Given the description of an element on the screen output the (x, y) to click on. 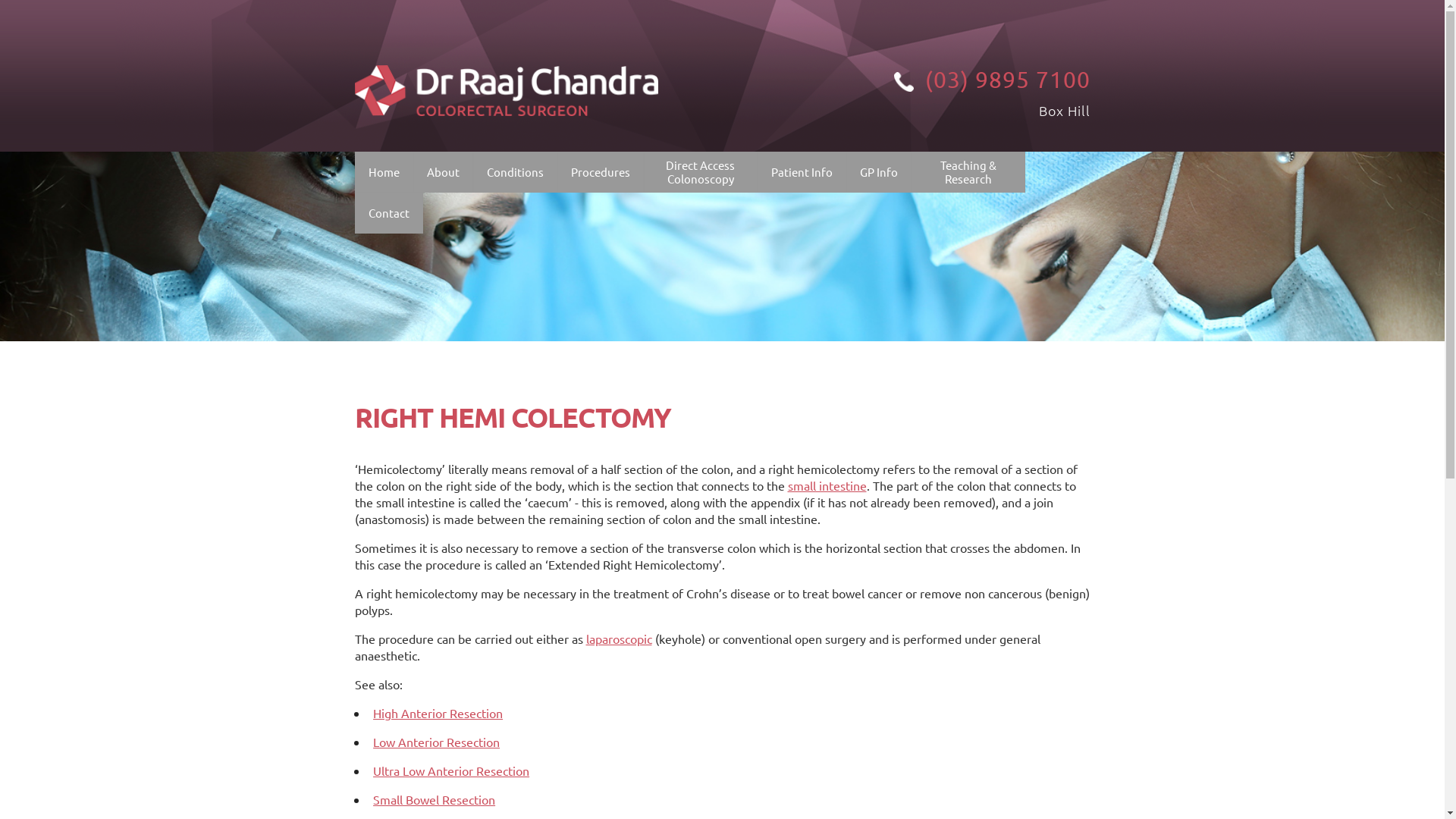
High Anterior Resection Element type: text (437, 712)
Contact Element type: text (387, 212)
Box Hill Element type: text (1064, 110)
Ultra Low Anterior Resection Element type: text (451, 770)
Your first visit Element type: text (862, 210)
(03) 9895 7100 Element type: text (938, 78)
High Anterior Resection Element type: text (662, 281)
laparoscopic Element type: text (618, 638)
Low Anterior Resection Element type: text (436, 741)
Home Element type: text (382, 171)
Appointment Request Element type: text (862, 281)
Gastroscopy Element type: text (662, 495)
Skip to main content Element type: text (55, 0)
small intestine Element type: text (826, 484)
Reconstructive Pouch Surgery Element type: text (662, 246)
Procedures Element type: text (600, 171)
Hernias Element type: text (579, 352)
Bowel cancer Element type: text (579, 210)
Low Anterior Resection Element type: text (662, 317)
Surgical Emergencies Element type: text (579, 388)
New Patient Registration Element type: text (862, 246)
Conditions Element type: text (514, 171)
Small Bowel Resection Element type: text (434, 798)
Diverticular disease Element type: text (579, 317)
Contact Us Element type: text (461, 251)
Patient Referral Element type: text (952, 210)
Haemorrhoids Element type: text (579, 424)
Advanced laparoscopic surgery Element type: text (662, 210)
Small Bowel Resection Element type: text (662, 388)
Patient Info Element type: text (801, 171)
Dr Raaj Chandra Home Element type: hover (506, 58)
Anal Fissure Element type: text (579, 459)
GP Info Element type: text (878, 171)
Anal Fistula Element type: text (579, 495)
Right Hemi Colectomy Element type: text (662, 424)
Ultra Low Anterior Resection Element type: text (662, 352)
Locations Element type: text (461, 286)
Teaching & Research Element type: text (967, 171)
Direct Access Colonoscopy Element type: text (700, 171)
Inflammatory bowel disease Element type: text (579, 246)
Left Hemi Colectomy Element type: text (662, 459)
About Element type: text (443, 171)
Colonic bleeding Element type: text (579, 281)
Perianal Abscess Element type: text (579, 531)
